Given the description of an element on the screen output the (x, y) to click on. 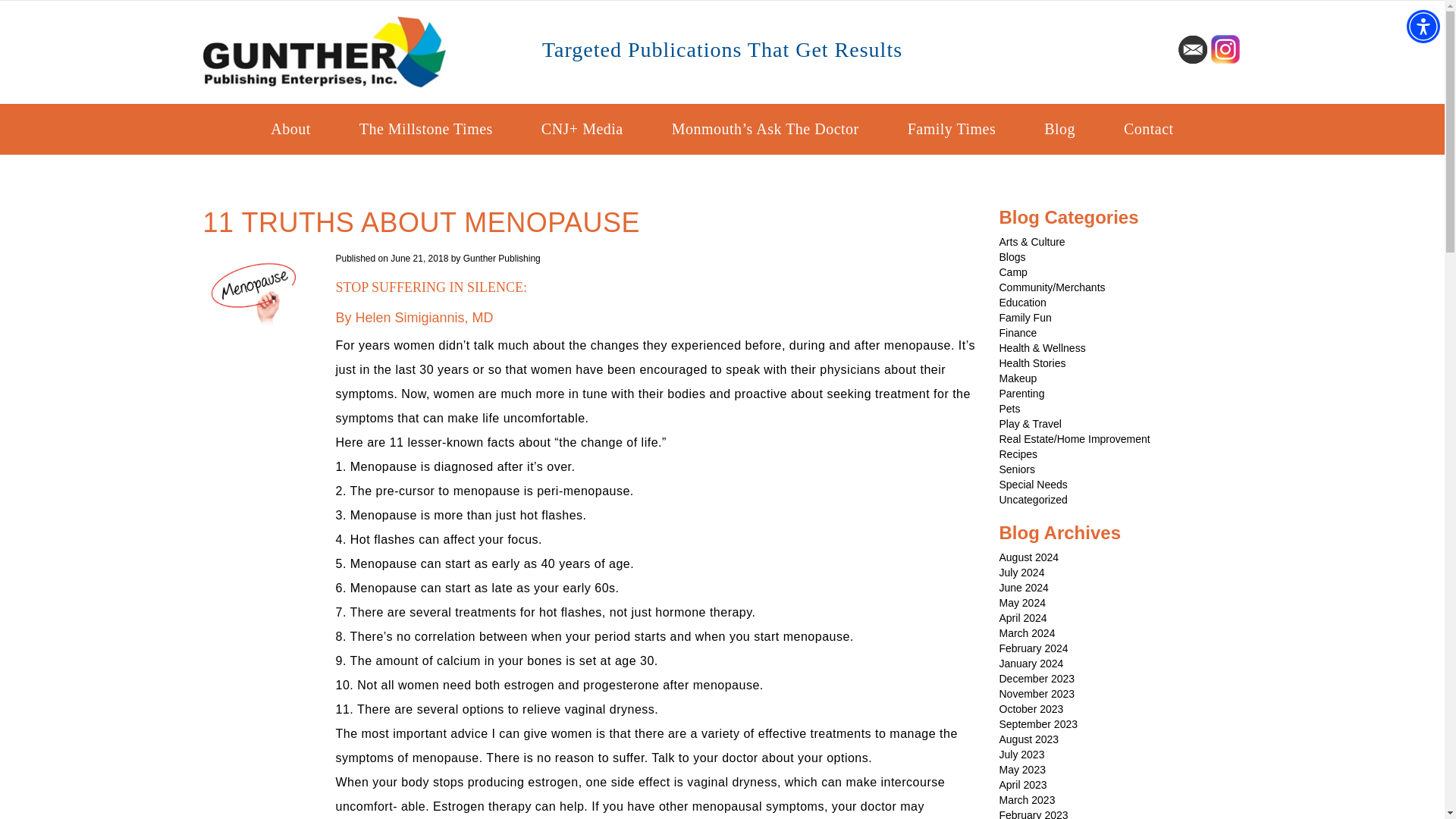
Finance (1017, 332)
Family Fun (1024, 317)
Family Times (952, 129)
Education (1022, 302)
About (290, 129)
Blogs (1012, 256)
The Millstone Times (425, 129)
Blog (1059, 129)
Accessibility Menu (1422, 26)
Camp (1012, 272)
